Given the description of an element on the screen output the (x, y) to click on. 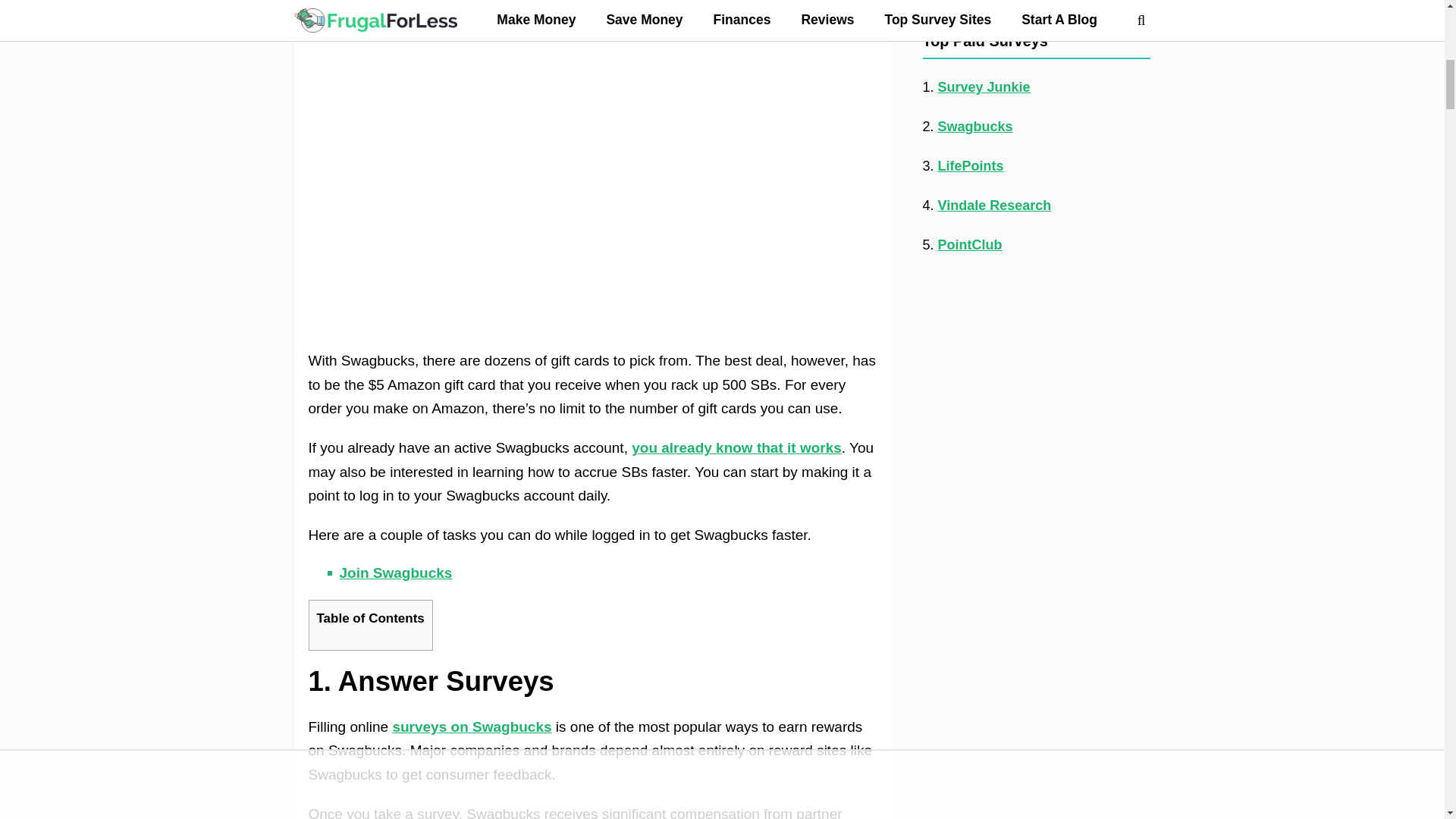
Join Swagbucks (395, 572)
surveys on Swagbucks (471, 726)
you already know that it works (736, 447)
